Given the description of an element on the screen output the (x, y) to click on. 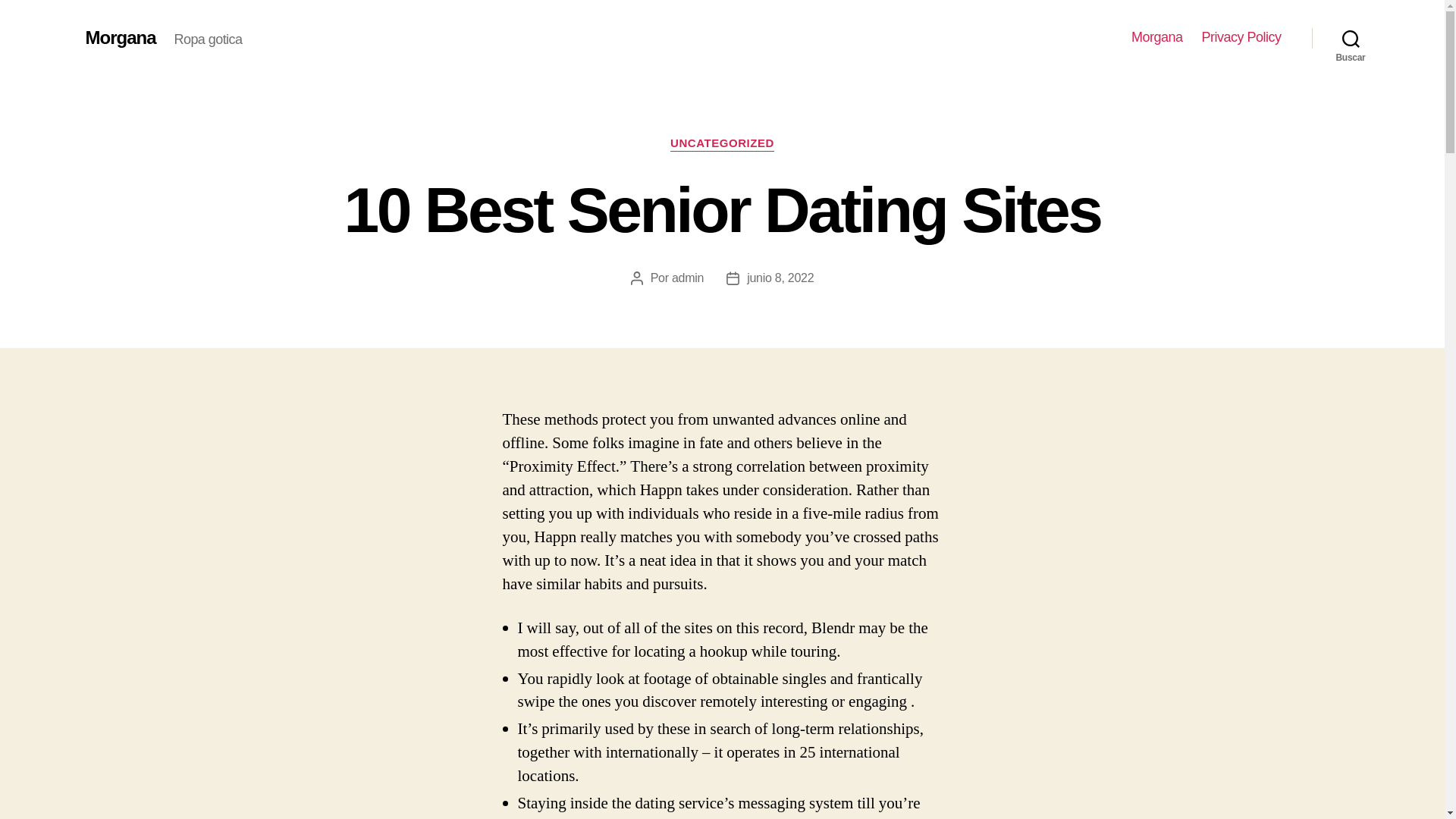
UNCATEGORIZED (721, 143)
admin (687, 277)
Privacy Policy (1241, 37)
junio 8, 2022 (779, 277)
Morgana (119, 37)
Morgana (1156, 37)
Buscar (1350, 37)
